Given the description of an element on the screen output the (x, y) to click on. 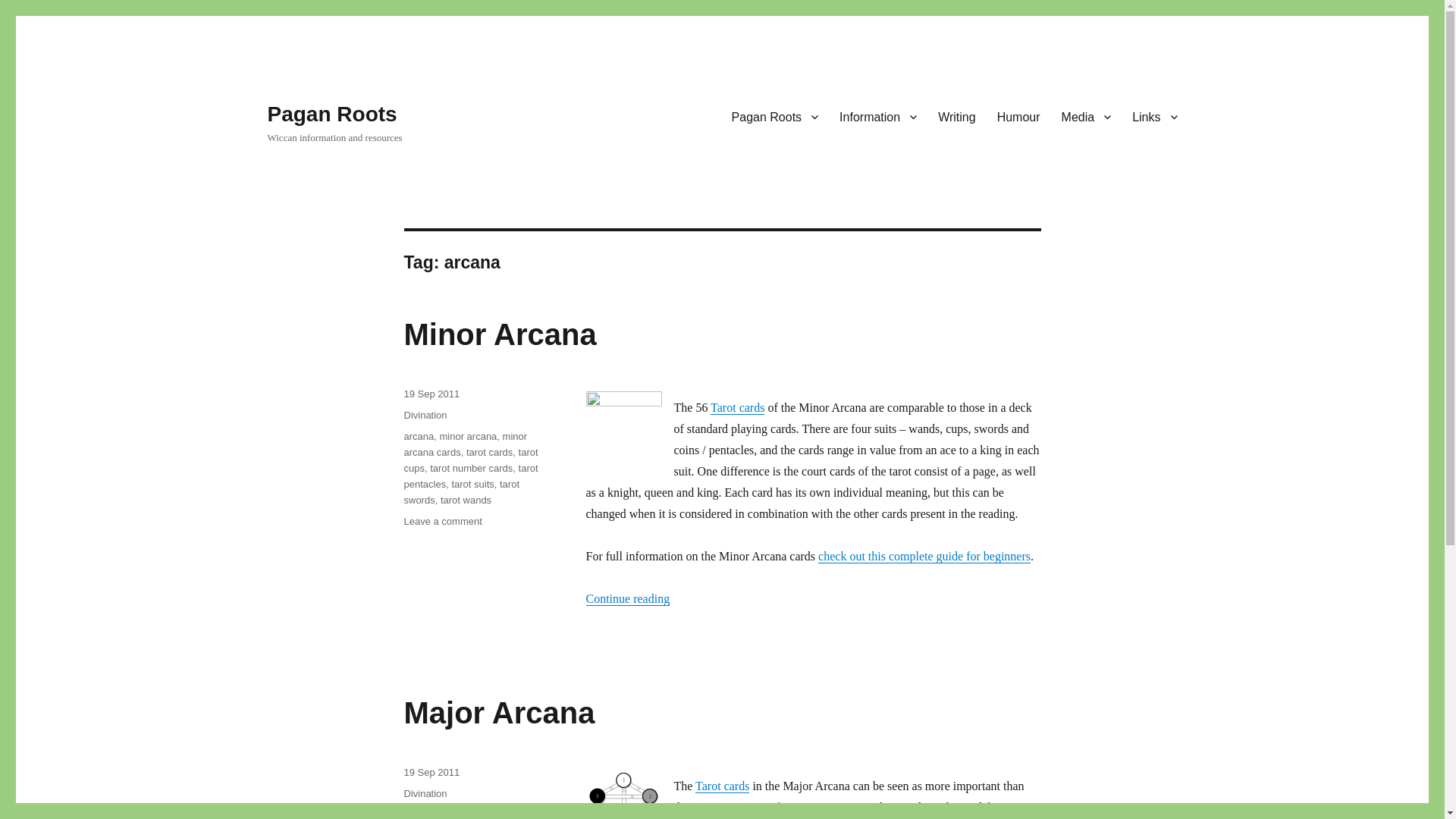
treeoflifesmall (623, 794)
Writing (957, 116)
Tarot (737, 407)
Pagan Roots (331, 114)
Pagan Roots (774, 116)
Minor Arcana (817, 807)
Tarot (722, 785)
tarot2 (623, 428)
Humour (1019, 116)
Information (877, 116)
Media (1086, 116)
